Given the description of an element on the screen output the (x, y) to click on. 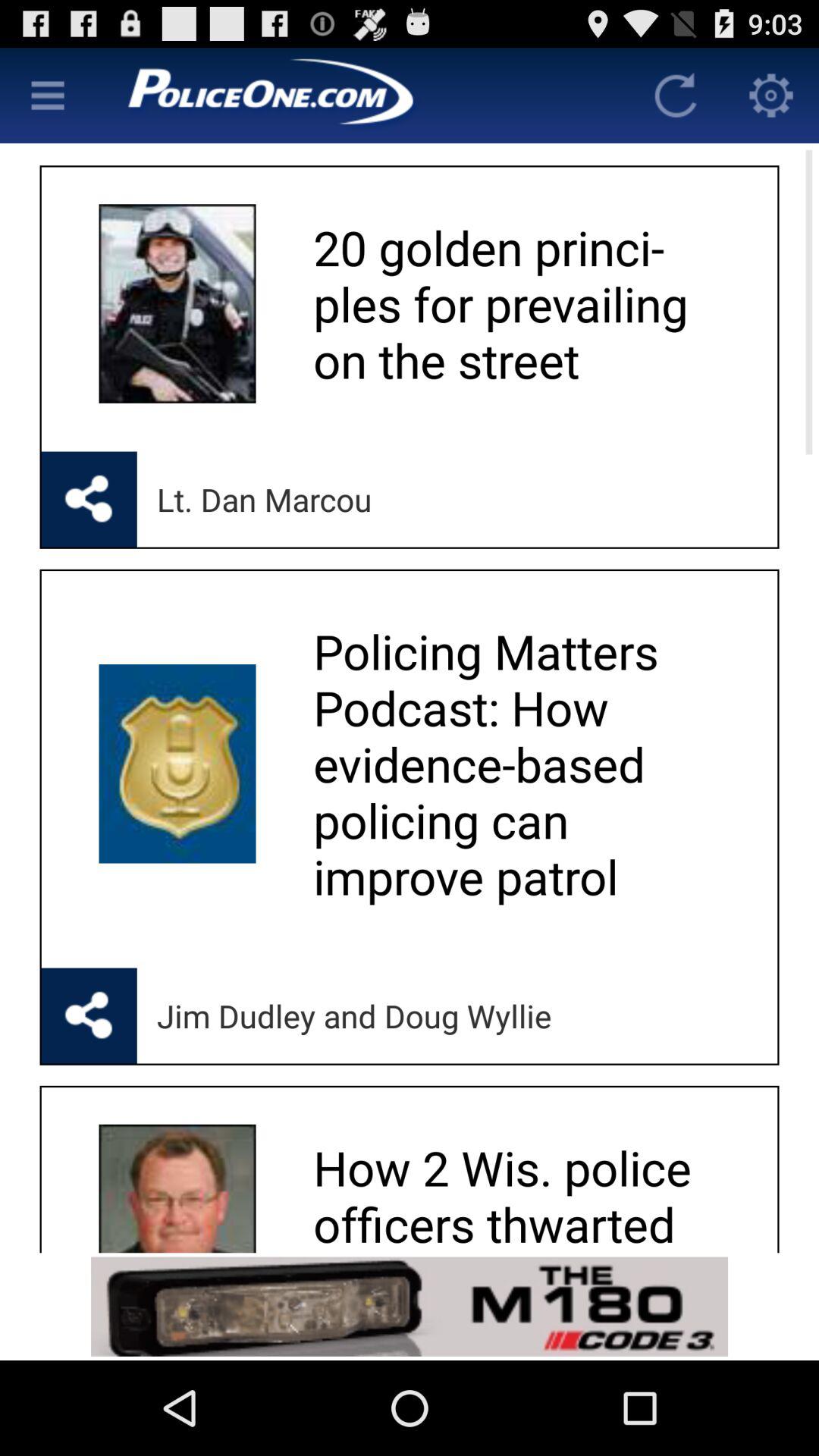
menu page (47, 95)
